Given the description of an element on the screen output the (x, y) to click on. 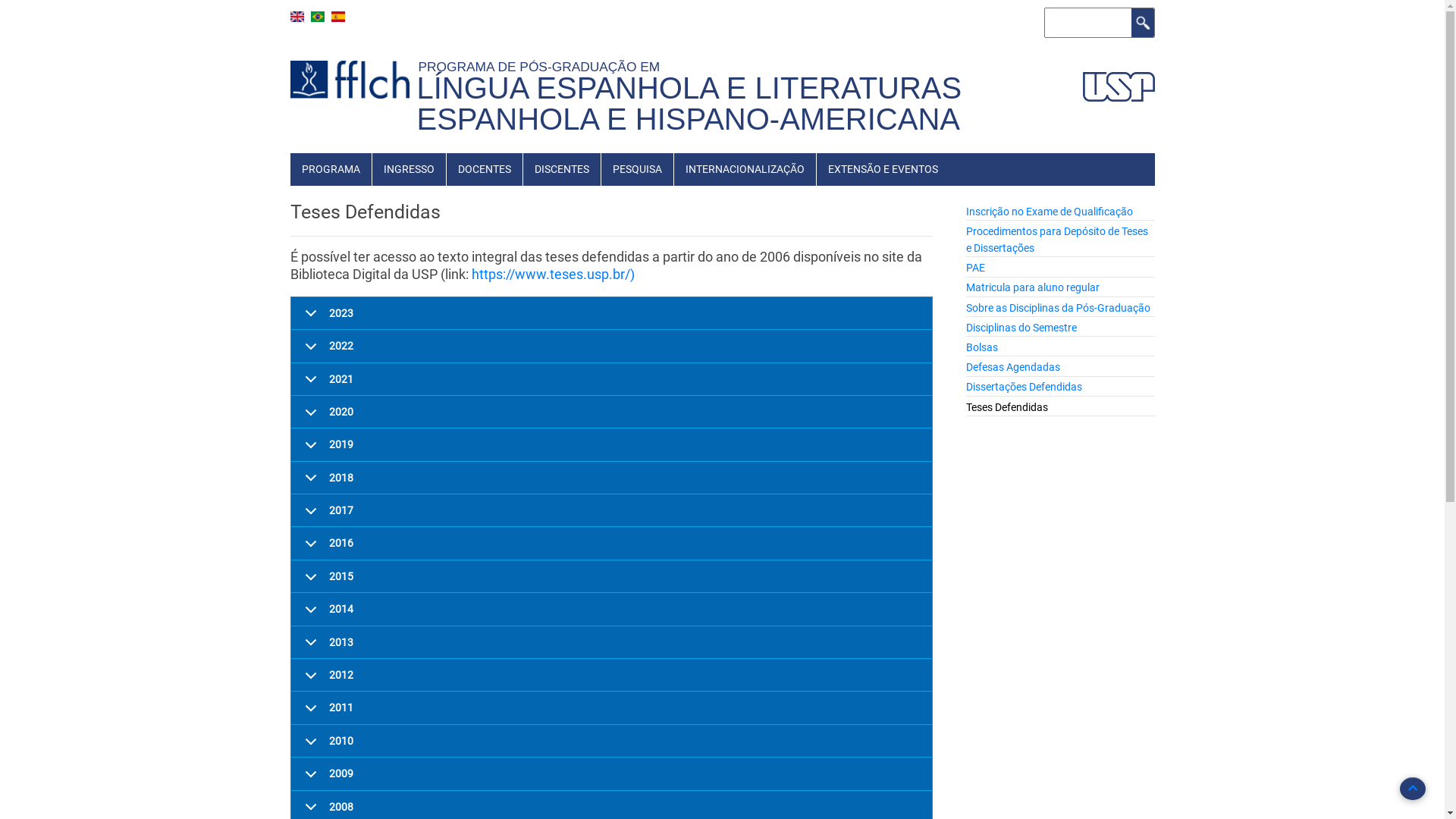
PESQUISA Element type: text (636, 169)
PAE Element type: text (975, 267)
Teses Defendidas Element type: text (1007, 407)
Matricula para aluno regular Element type: text (1032, 287)
Disciplinas do Semestre Element type: text (1021, 327)
2016 Element type: text (611, 543)
DISCENTES Element type: text (561, 169)
2018 Element type: text (611, 477)
Buscar Element type: text (1142, 22)
PROGRAMA Element type: text (329, 169)
2017 Element type: text (611, 510)
https://www.teses.usp.br/) Element type: text (552, 274)
Defesas Agendadas Element type: text (1013, 366)
English Element type: hover (296, 16)
Back to Top Element type: hover (1412, 788)
Portuguese, Brazil Element type: hover (317, 16)
2020 Element type: text (611, 411)
2021 Element type: text (611, 379)
2009 Element type: text (611, 773)
INGRESSO Element type: text (408, 169)
2011 Element type: text (611, 707)
2013 Element type: text (611, 642)
2019 Element type: text (611, 444)
2015 Element type: text (611, 576)
2023 Element type: text (611, 313)
2014 Element type: text (611, 609)
Spanish Element type: hover (337, 16)
2012 Element type: text (611, 674)
Bolsas Element type: text (981, 347)
2022 Element type: text (611, 345)
2010 Element type: text (611, 740)
DOCENTES Element type: text (483, 169)
